Given the description of an element on the screen output the (x, y) to click on. 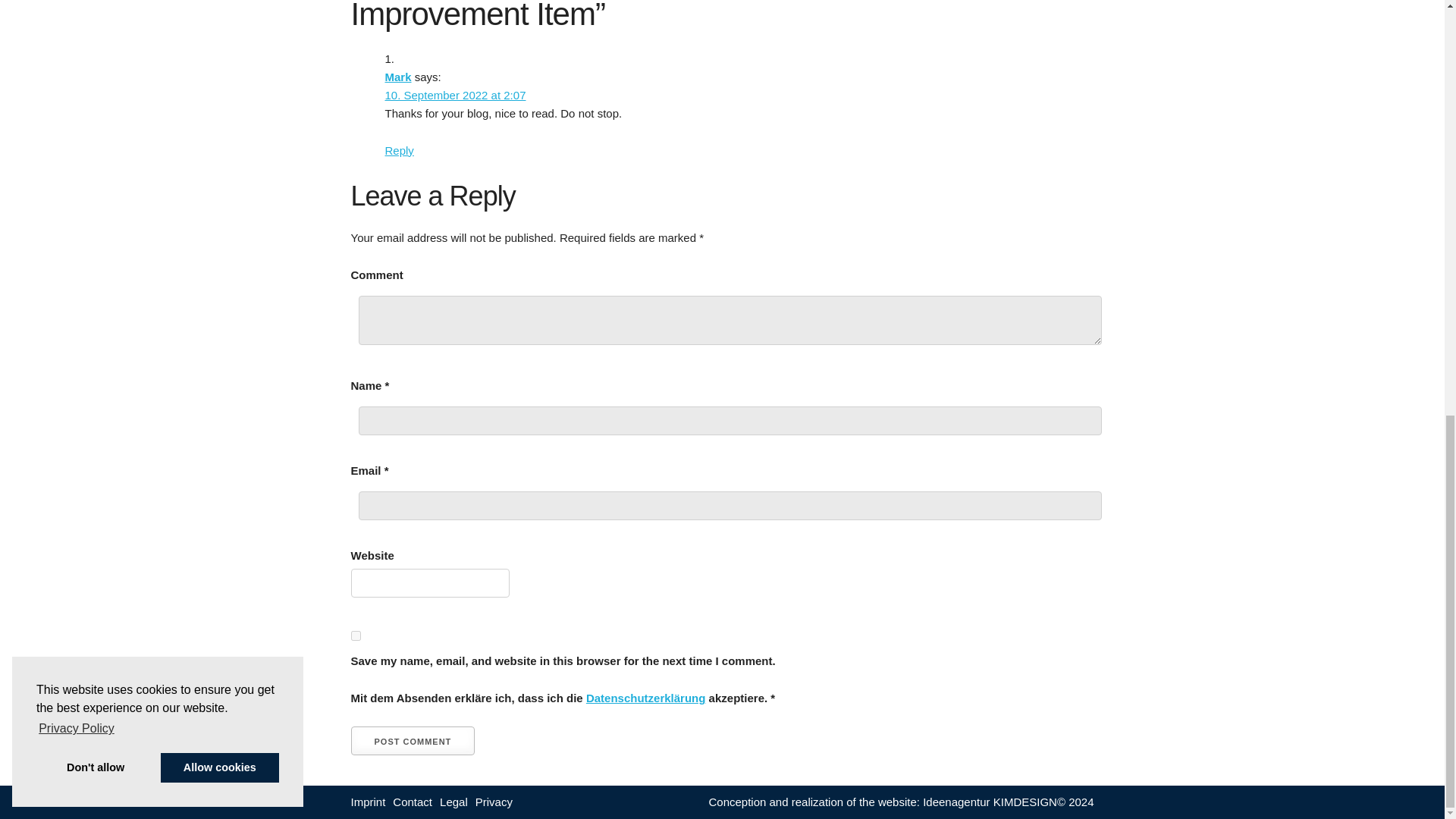
yes (354, 635)
Post Comment (412, 740)
Contact (412, 802)
Reply (399, 150)
Post Comment (412, 740)
Legal (453, 802)
Privacy (494, 802)
Mark (398, 76)
Ideenagentur KIMDESIGN (990, 801)
Imprint (367, 802)
10. September 2022 at 2:07 (455, 94)
